Given the description of an element on the screen output the (x, y) to click on. 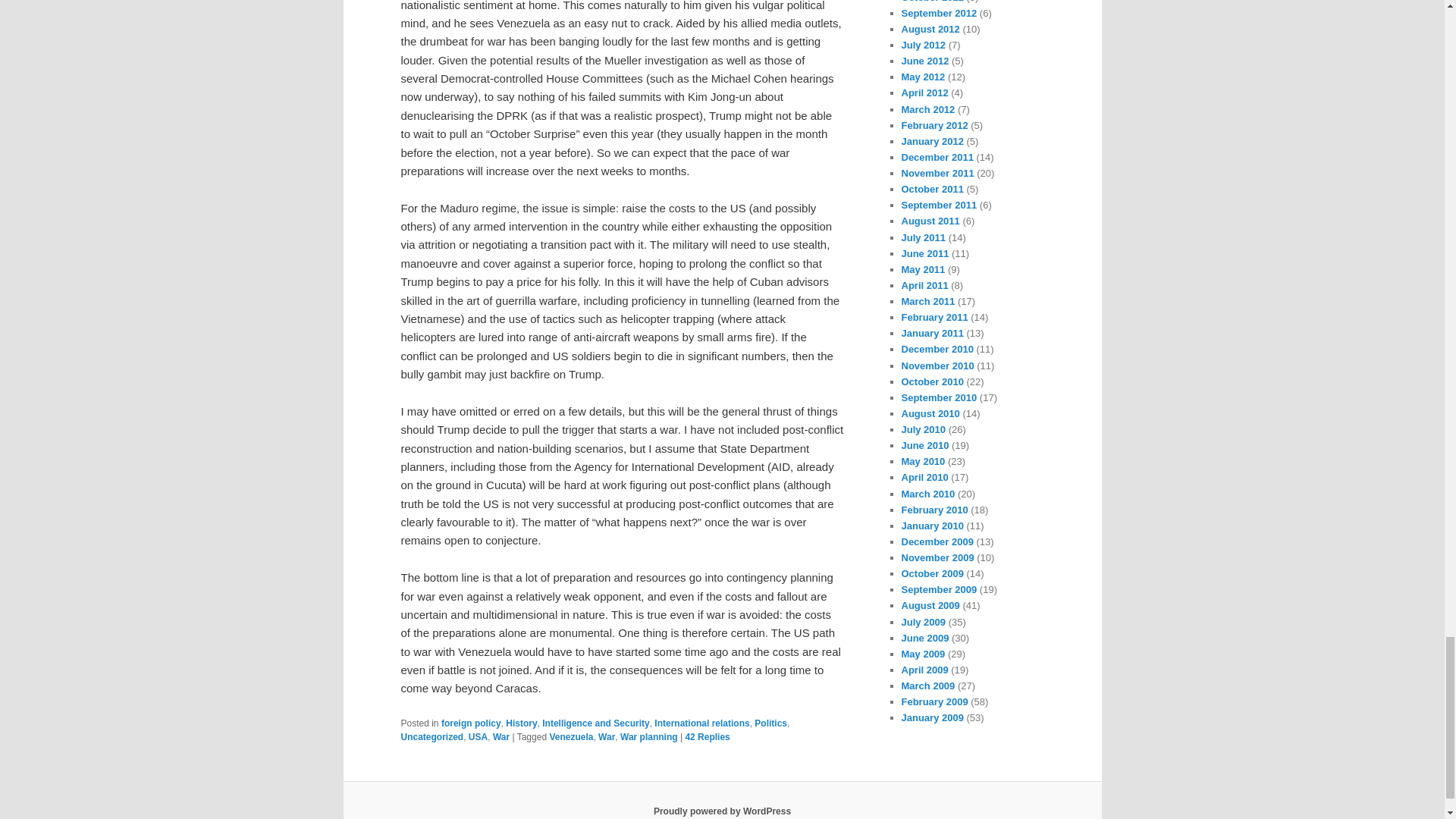
Politics (770, 723)
History (521, 723)
War planning (649, 737)
War (501, 737)
Uncategorized (431, 737)
42 Replies (706, 737)
International relations (701, 723)
Semantic Personal Publishing Platform (721, 810)
Intelligence and Security (595, 723)
USA (477, 737)
